Given the description of an element on the screen output the (x, y) to click on. 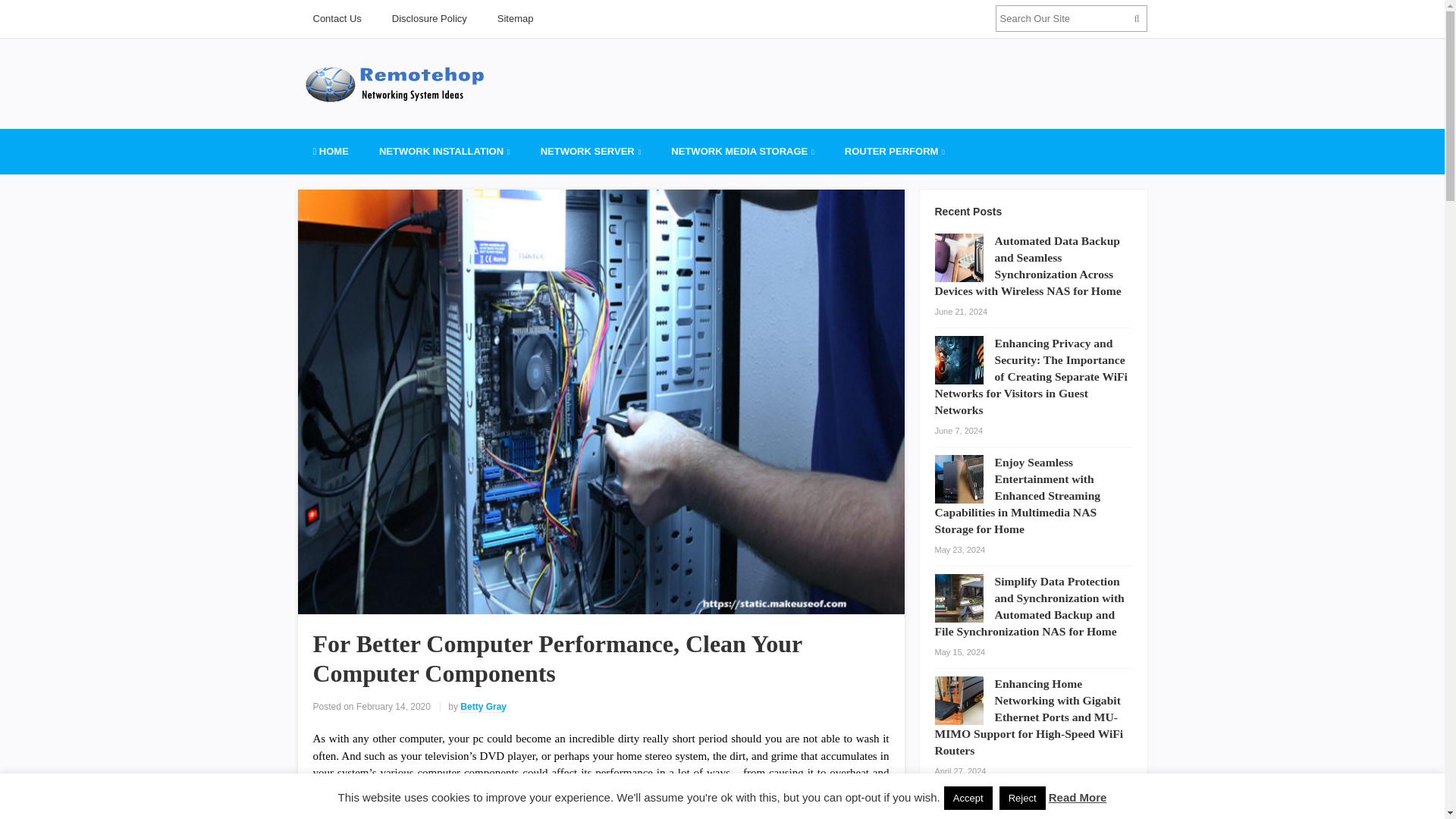
Sitemap (514, 18)
Contact Us (336, 18)
HOME (329, 151)
Disclosure Policy (429, 18)
